Given the description of an element on the screen output the (x, y) to click on. 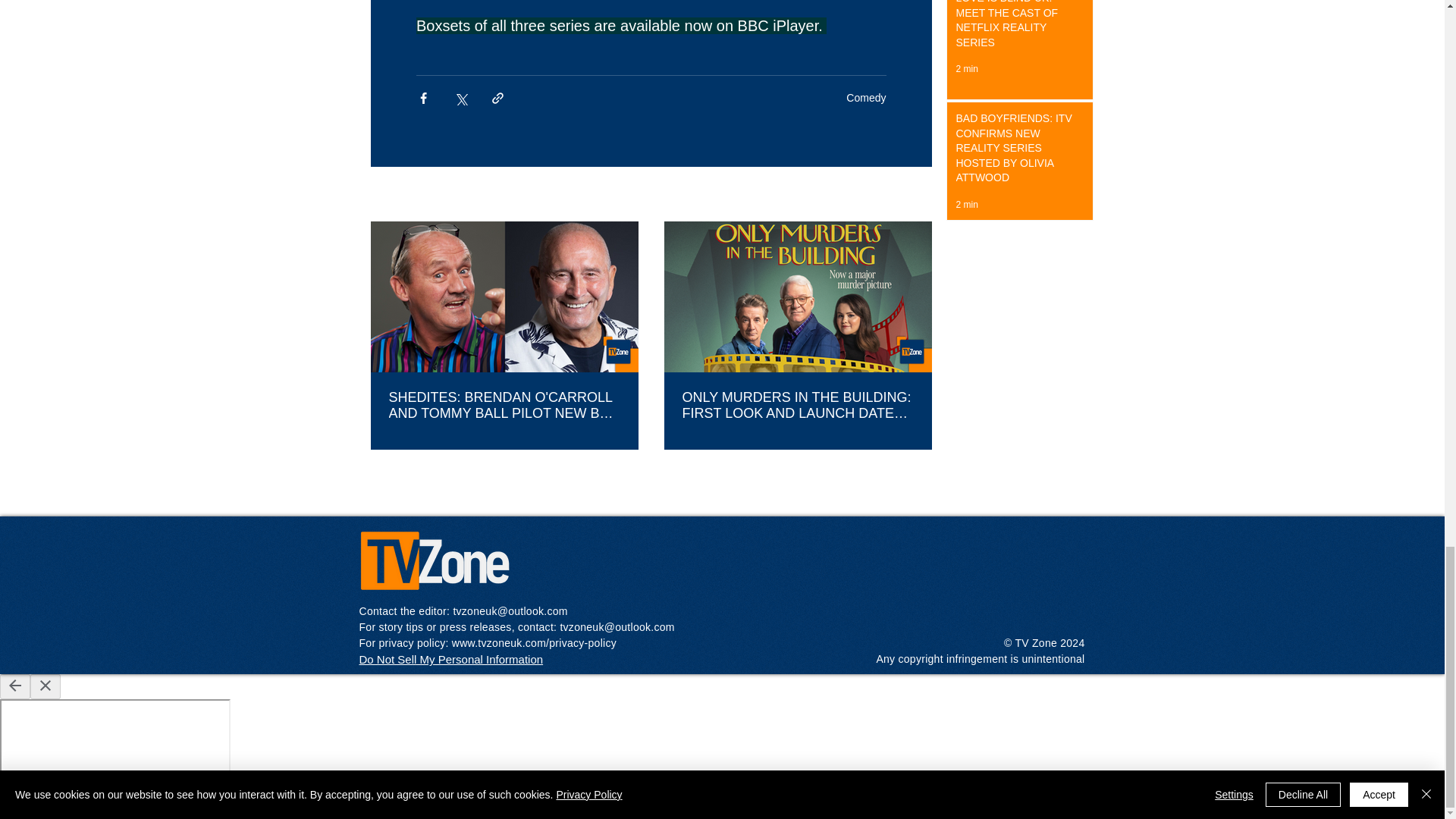
LOVE IS BLIND UK: MEET THE CAST OF NETFLIX REALITY SERIES (1014, 28)
Comedy (865, 97)
2 min (965, 204)
See All (914, 195)
2 min (965, 68)
